Given the description of an element on the screen output the (x, y) to click on. 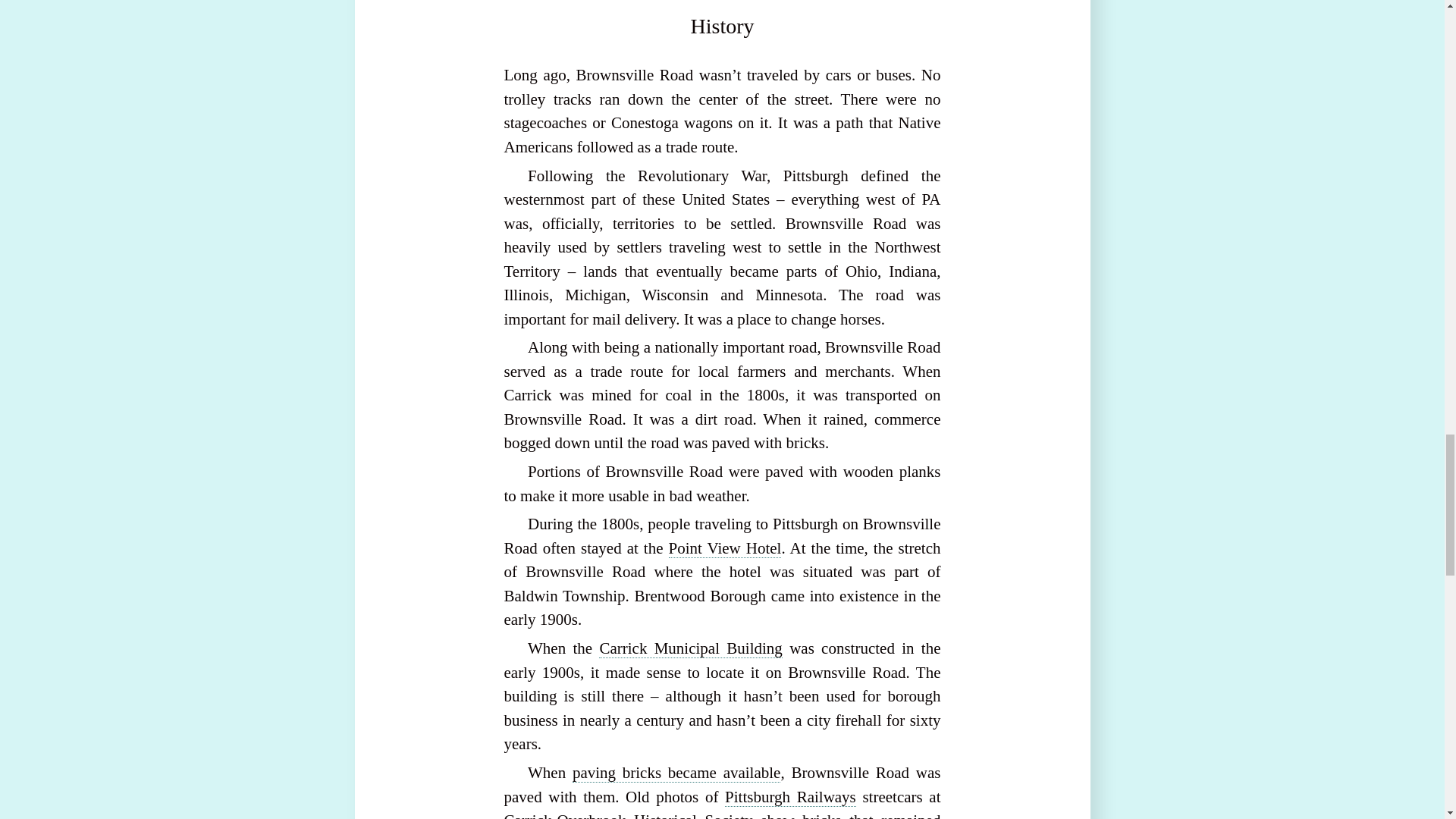
paving bricks became available (676, 772)
Carrick-Overbrook Historical Society (627, 815)
Carrick Municipal Building (689, 648)
Point View Hotel (724, 547)
Pittsburgh Railways (790, 796)
